Given the description of an element on the screen output the (x, y) to click on. 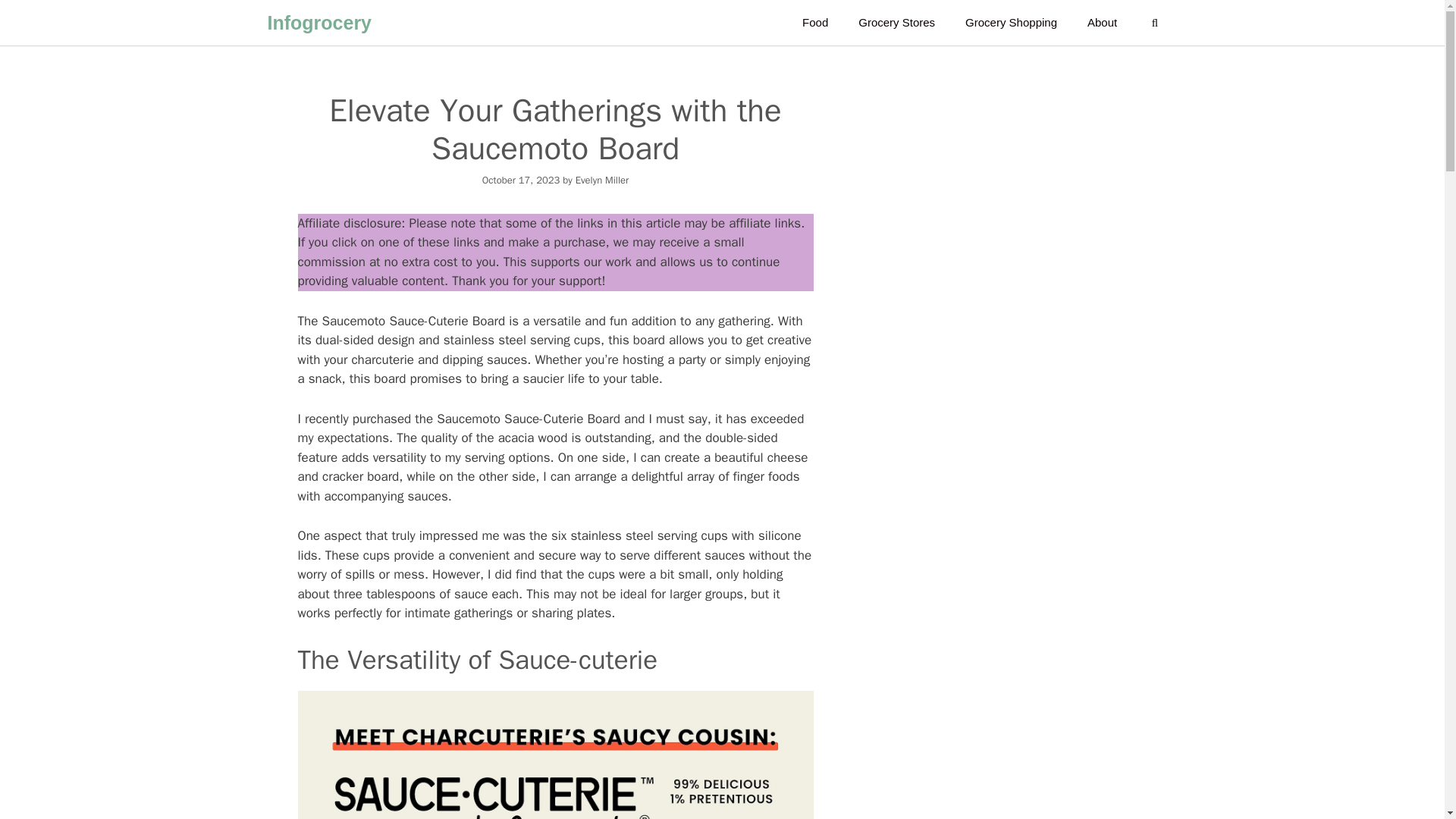
Infogrocery (318, 22)
View all posts by Evelyn Miller (601, 179)
About (1101, 22)
Evelyn Miller (601, 179)
Grocery Shopping (1010, 22)
Grocery Stores (896, 22)
Food (815, 22)
